Given the description of an element on the screen output the (x, y) to click on. 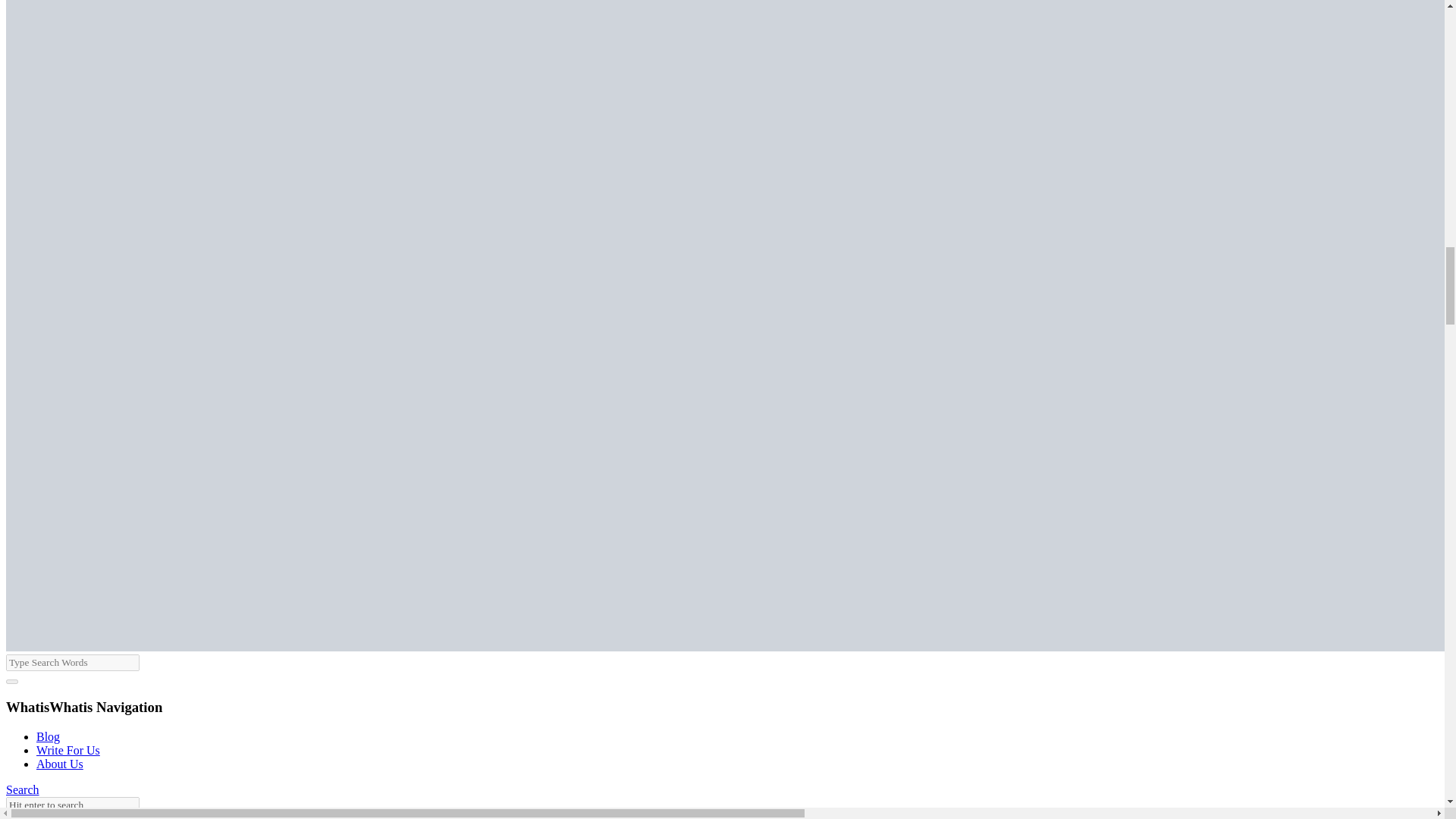
Write For Us (68, 749)
Search (22, 789)
Hit enter to search (72, 805)
Ask A Question (43, 816)
About Us (59, 763)
Hit enter to search (72, 805)
Blog (47, 736)
